Given the description of an element on the screen output the (x, y) to click on. 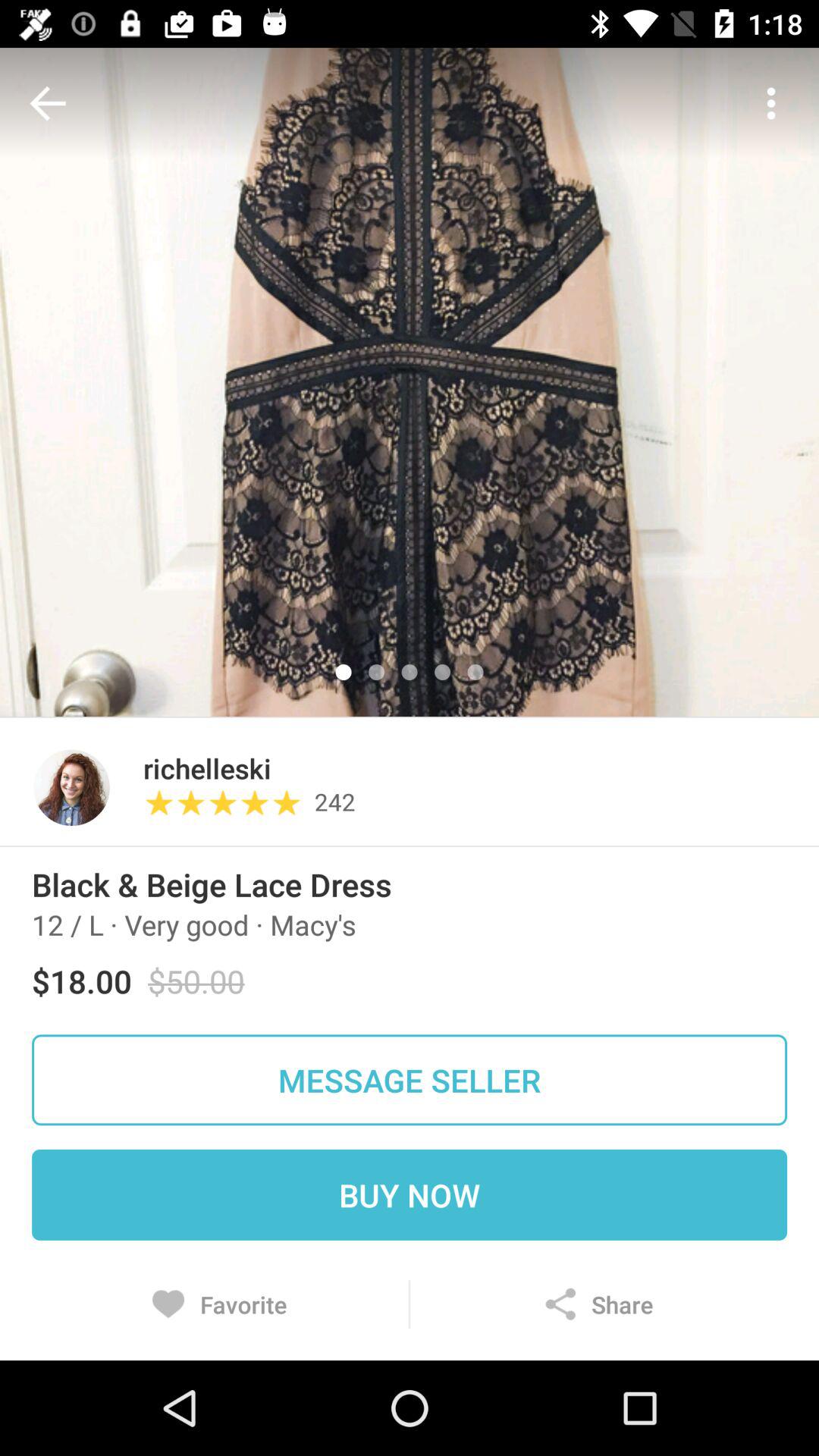
turn on the 242 item (334, 810)
